Given the description of an element on the screen output the (x, y) to click on. 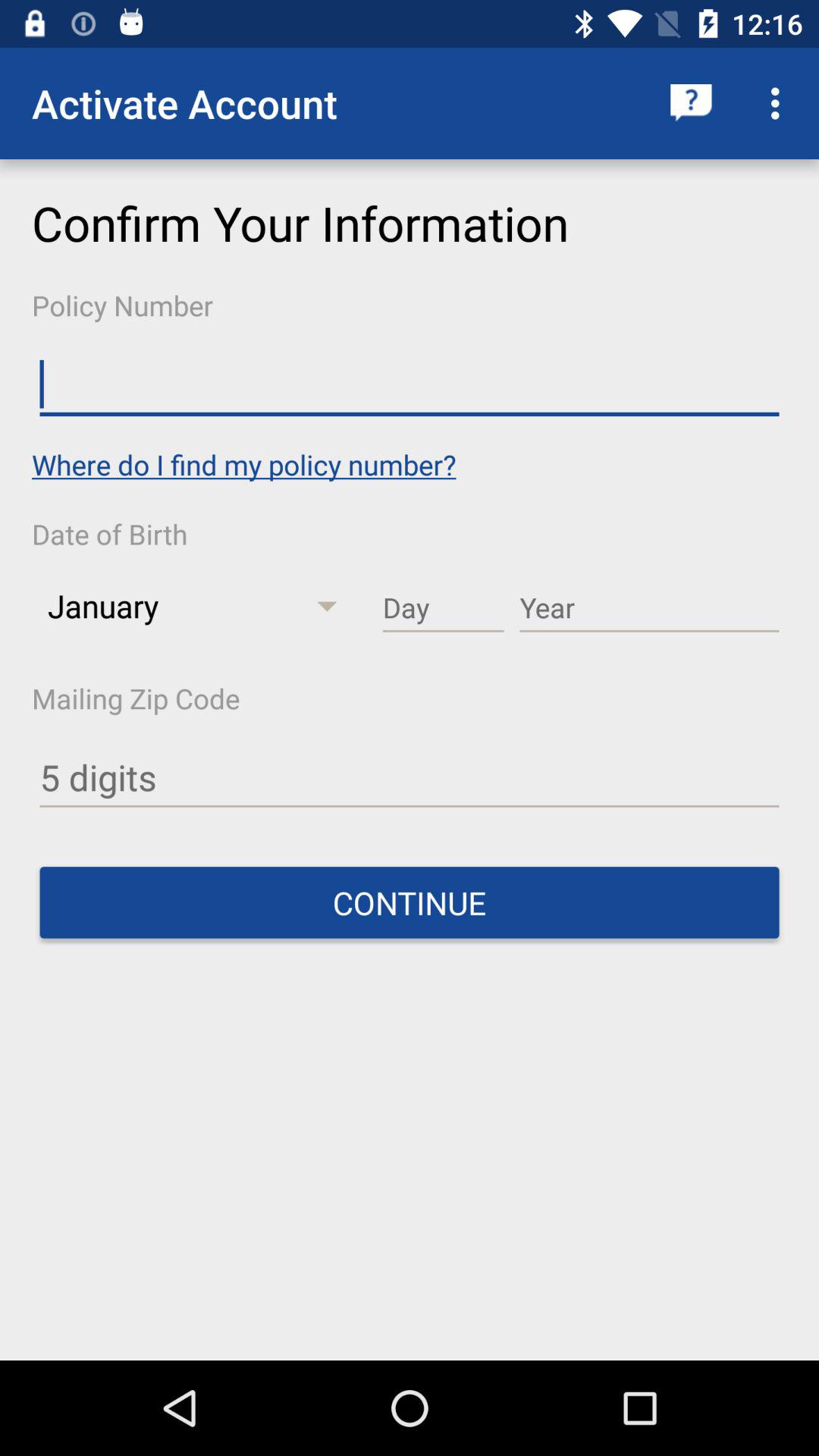
select day of birth (442, 607)
